Given the description of an element on the screen output the (x, y) to click on. 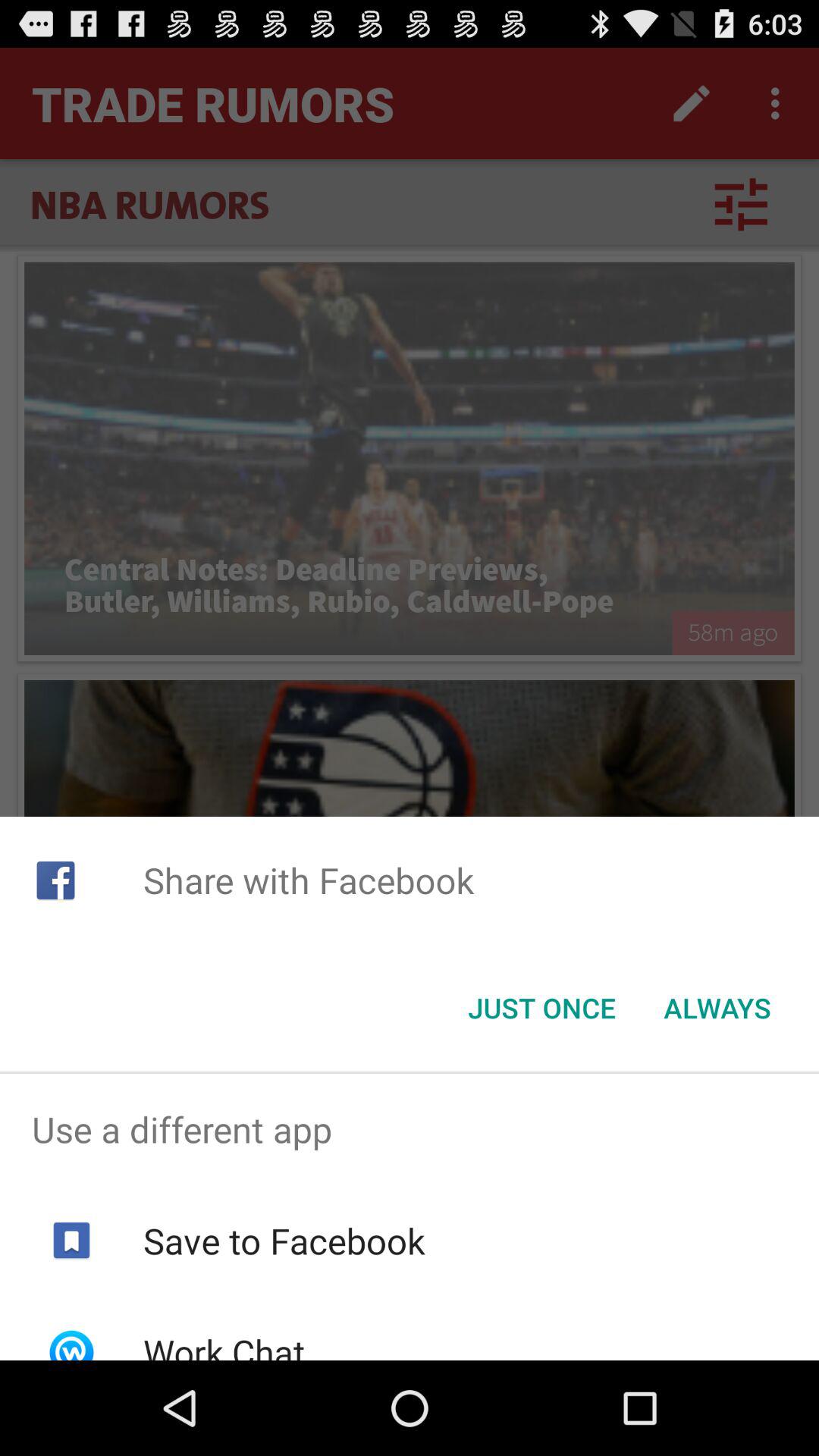
tap the button at the bottom right corner (717, 1007)
